Given the description of an element on the screen output the (x, y) to click on. 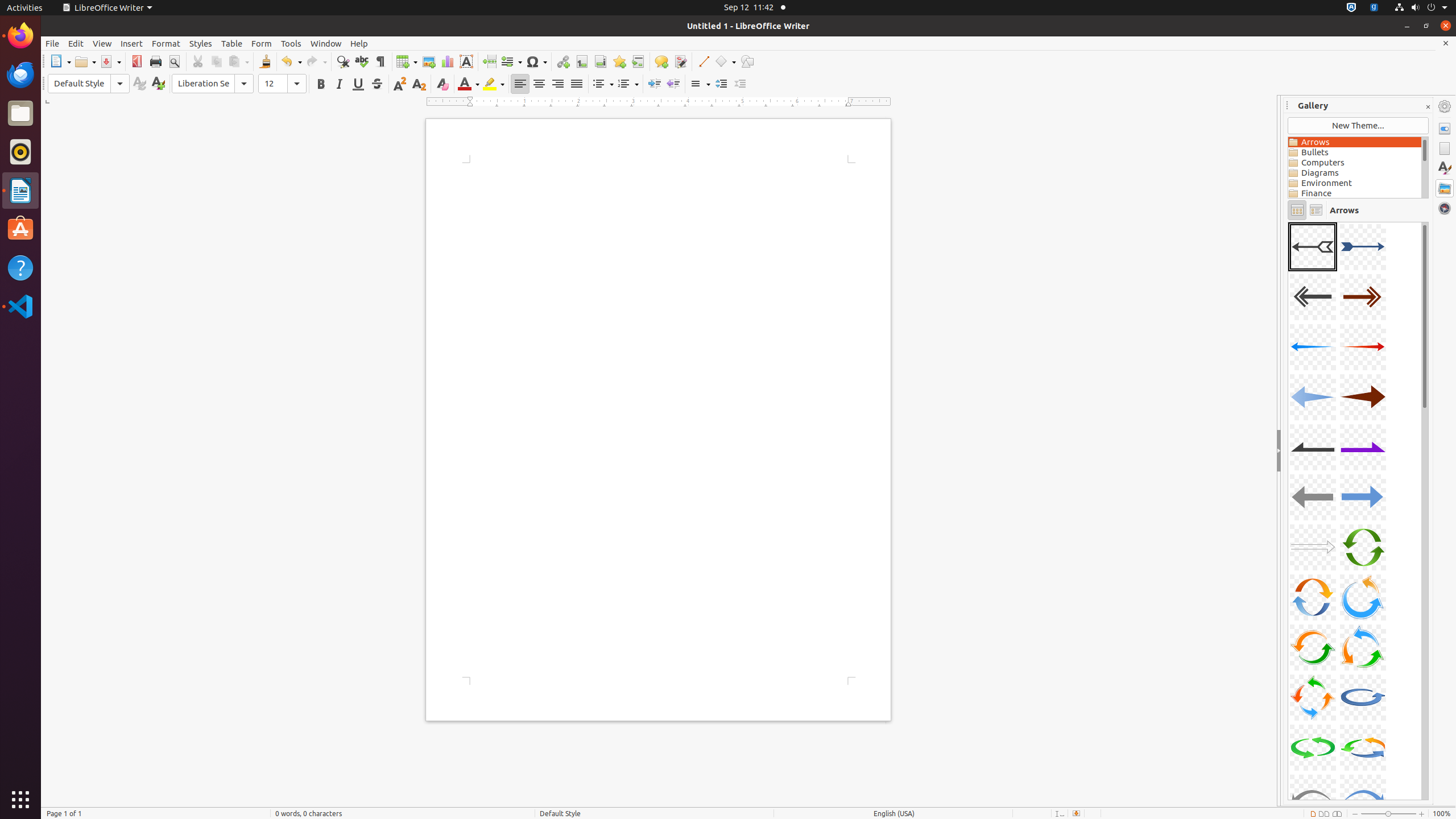
Files Element type: push-button (20, 113)
Ubuntu Software Element type: push-button (20, 229)
A02-Arrow-DarkBlue-Right Element type: list-item (1362, 246)
Navigator Element type: radio-button (1444, 208)
A13-Arrow-Gray-Right Element type: list-item (1312, 546)
